Given the description of an element on the screen output the (x, y) to click on. 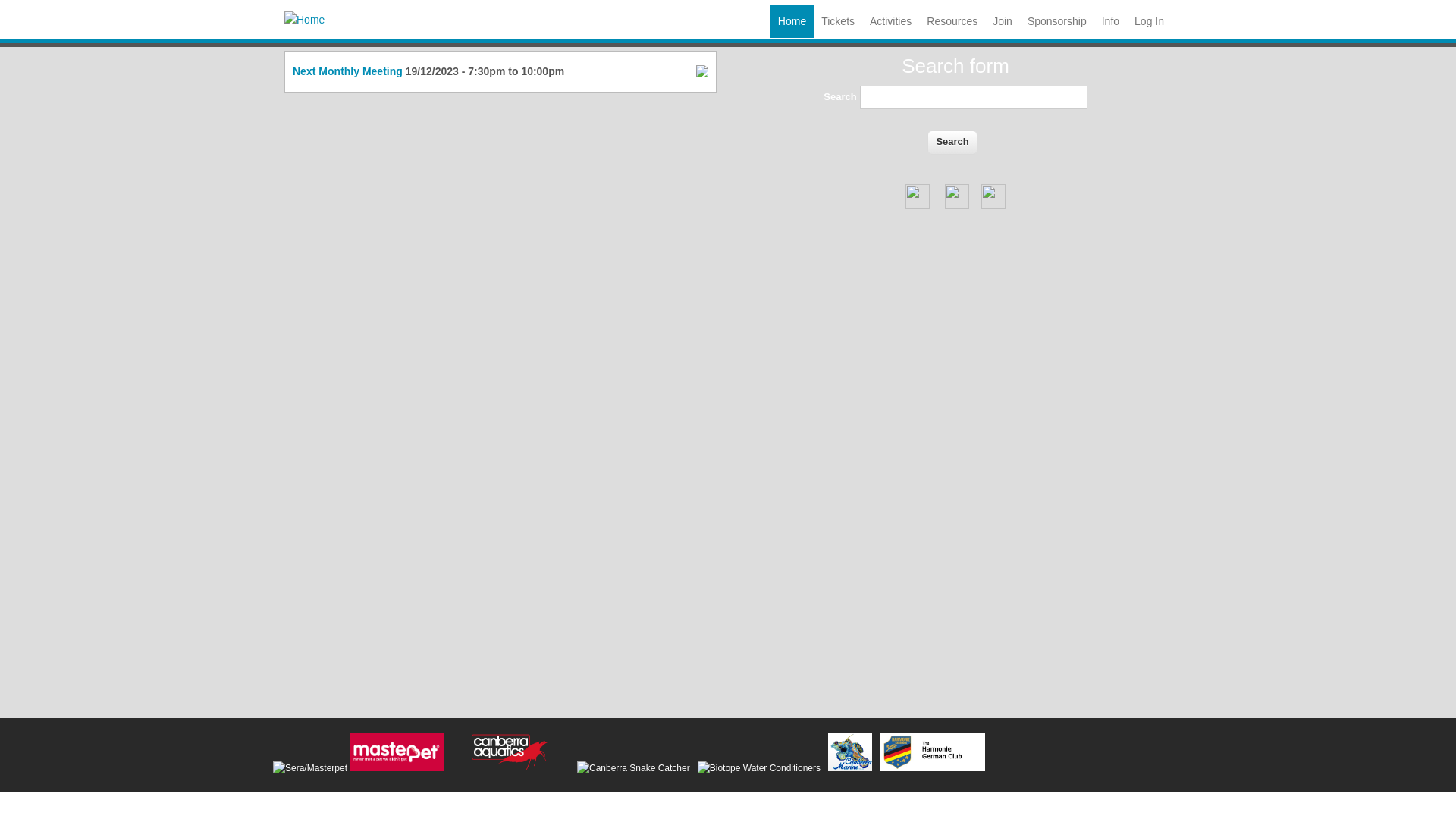
Sera/Masterpet Element type: hover (395, 752)
Search Element type: text (952, 142)
Enter the terms you wish to search for. Element type: hover (973, 97)
Sponsorship Element type: text (1056, 21)
Canberra Aquatics Element type: hover (510, 752)
Activities Element type: text (890, 21)
Canberra Snake Catcher Element type: hover (633, 768)
Home Element type: hover (304, 19)
Tickets Element type: text (837, 21)
Log In Element type: text (1148, 21)
Info Element type: text (1110, 21)
Home Element type: text (791, 21)
Monthly Meeting Element type: text (359, 71)
Canberra Marine Element type: hover (850, 752)
Biotope Water Conditioners Element type: hover (758, 768)
Sera/Masterpet Element type: hover (310, 768)
Join Element type: text (1002, 21)
Harmonie German Club Element type: hover (932, 752)
Resources Element type: text (952, 21)
